Given the description of an element on the screen output the (x, y) to click on. 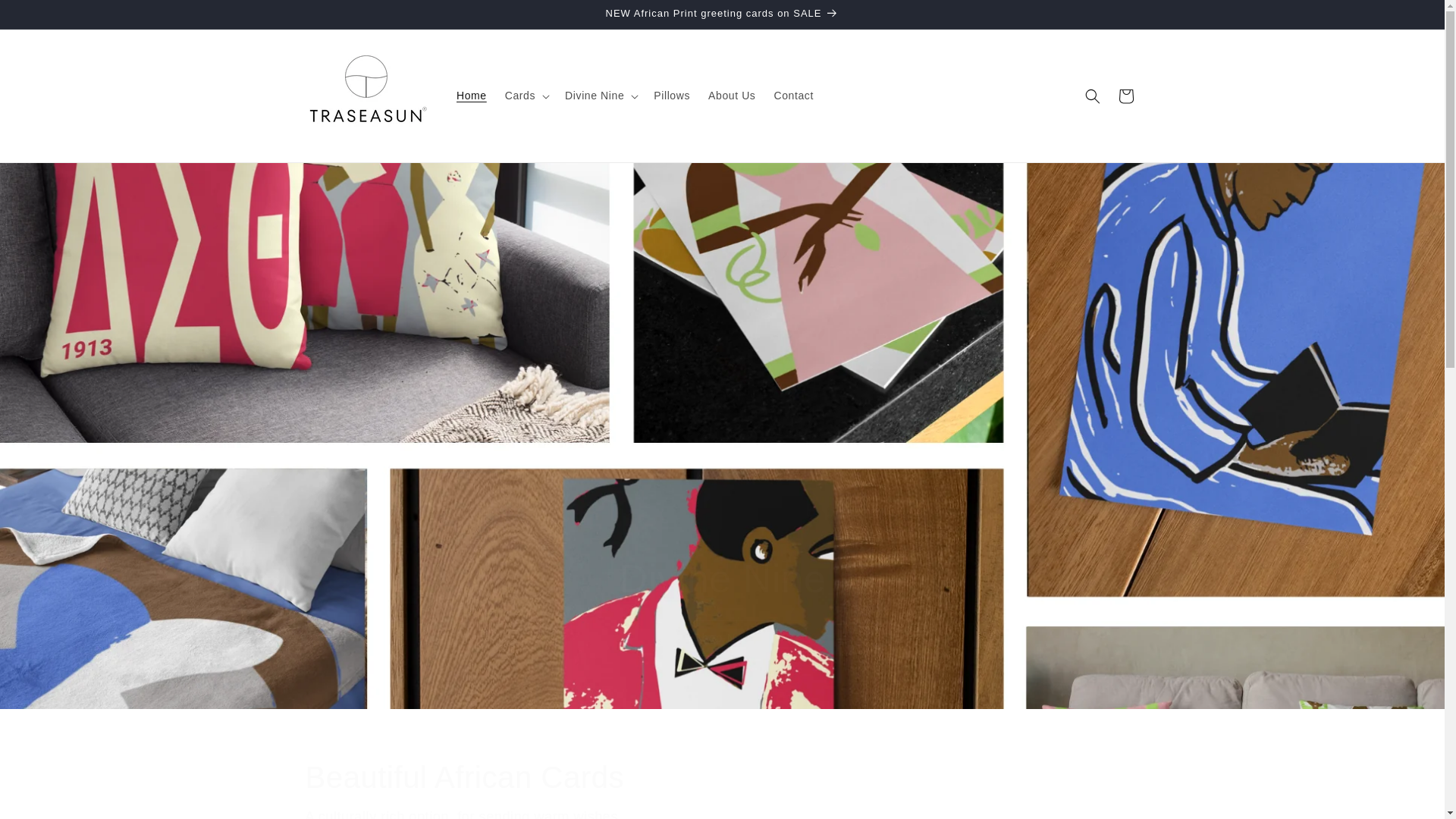
A culturally rich option, for sending warm wishes. (721, 811)
Home (471, 95)
NEW African Print greeting cards on SALE (721, 14)
Skip to content (45, 17)
